Given the description of an element on the screen output the (x, y) to click on. 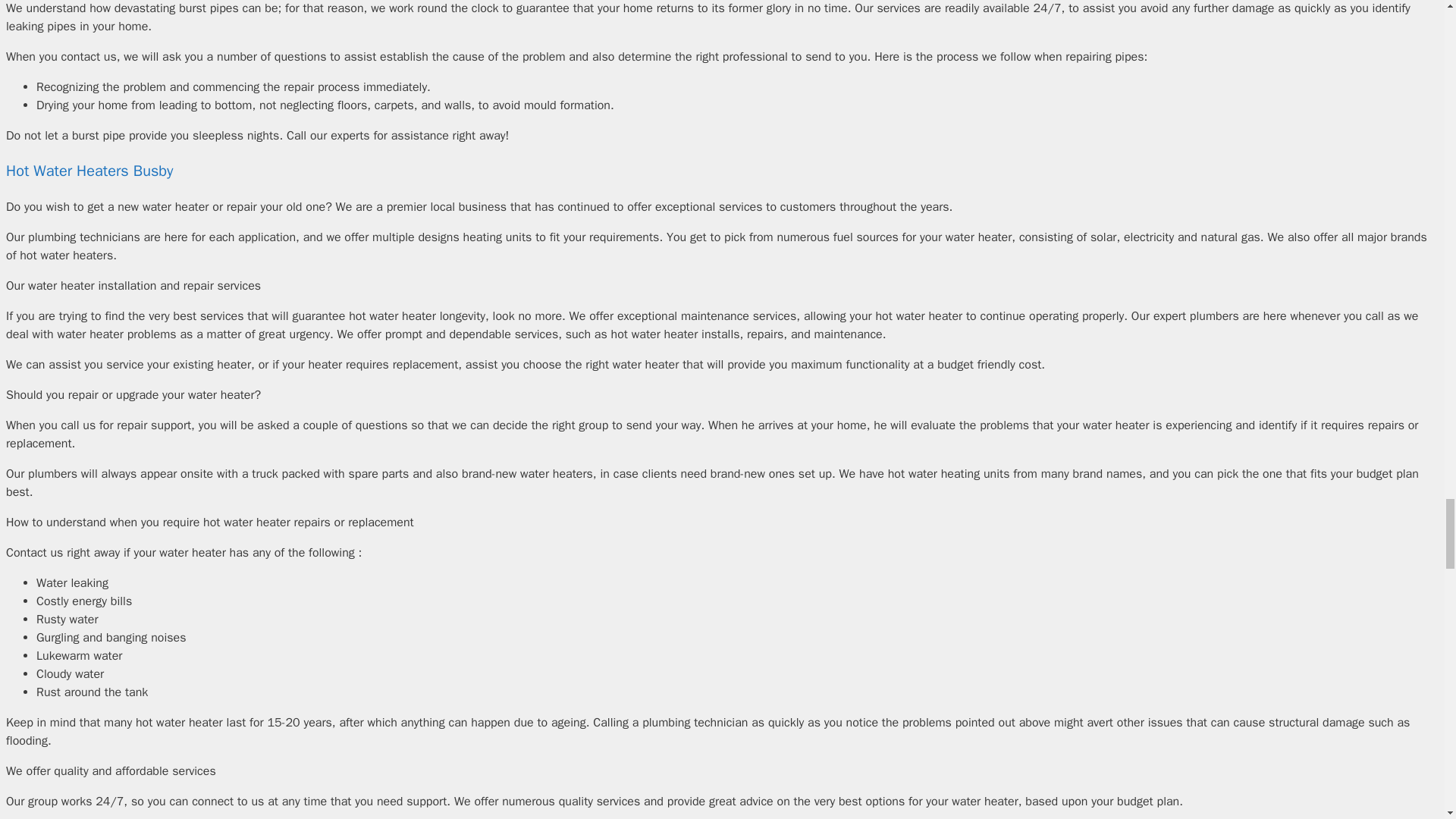
Hot Water Heaters Busby (89, 170)
